Given the description of an element on the screen output the (x, y) to click on. 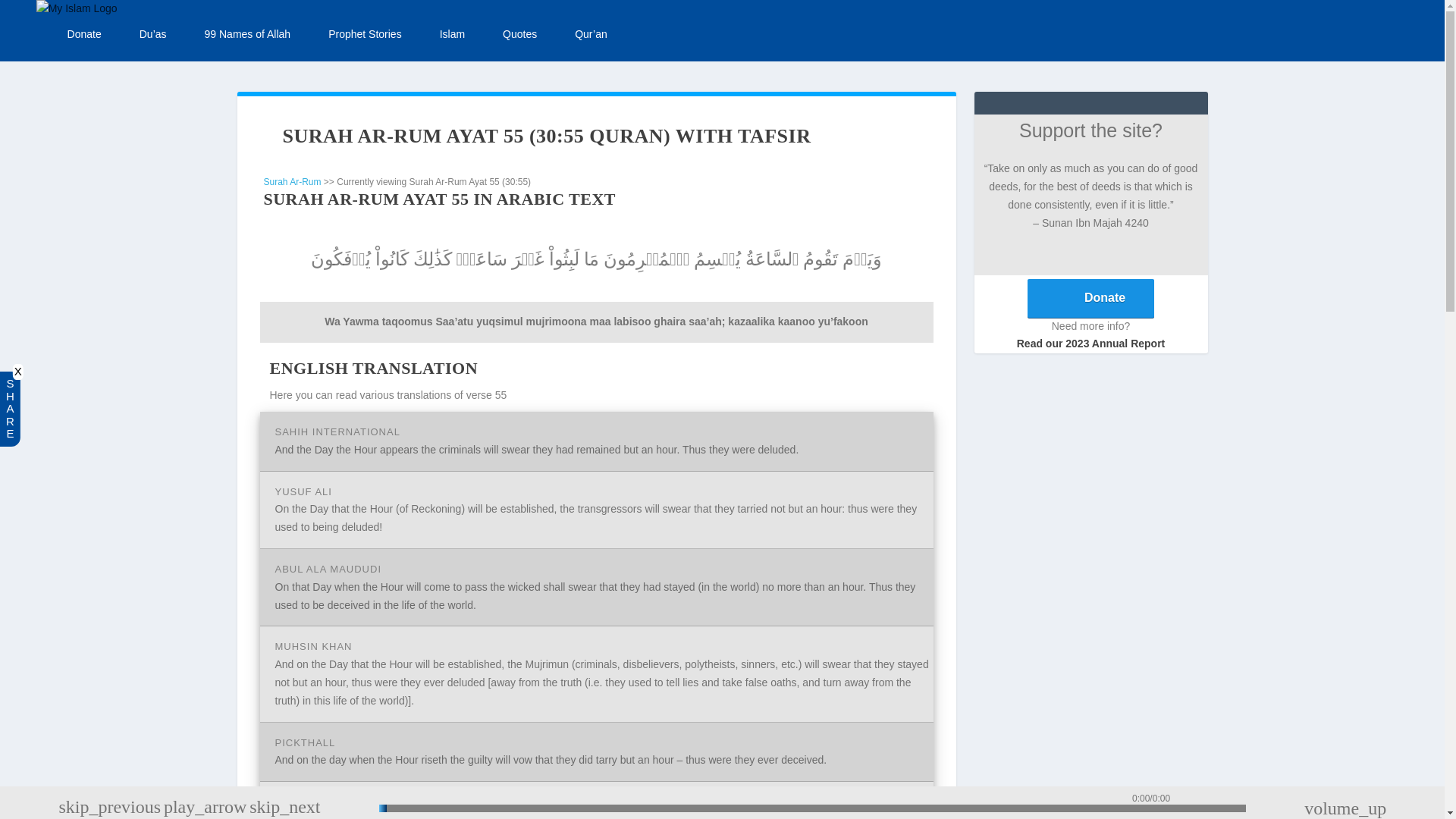
Islam (451, 34)
Prophet Stories (365, 34)
Surah Ar-Rum (292, 181)
Donate (83, 34)
99 Names of Allah (248, 34)
Quotes (519, 34)
